Given the description of an element on the screen output the (x, y) to click on. 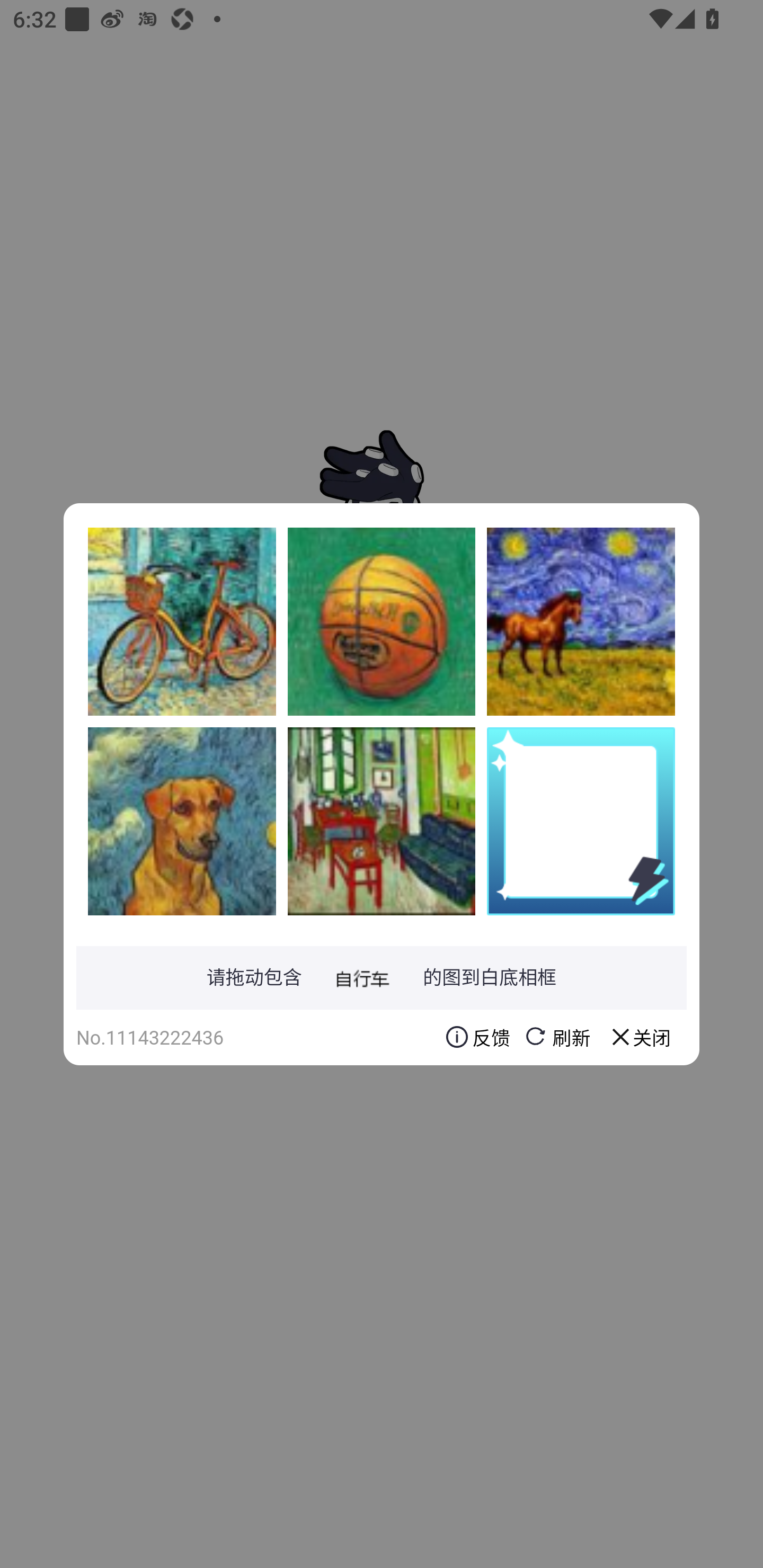
fL2 (381, 621)
moHIze8+WY+95D33rMWzFwB (580, 621)
